Given the description of an element on the screen output the (x, y) to click on. 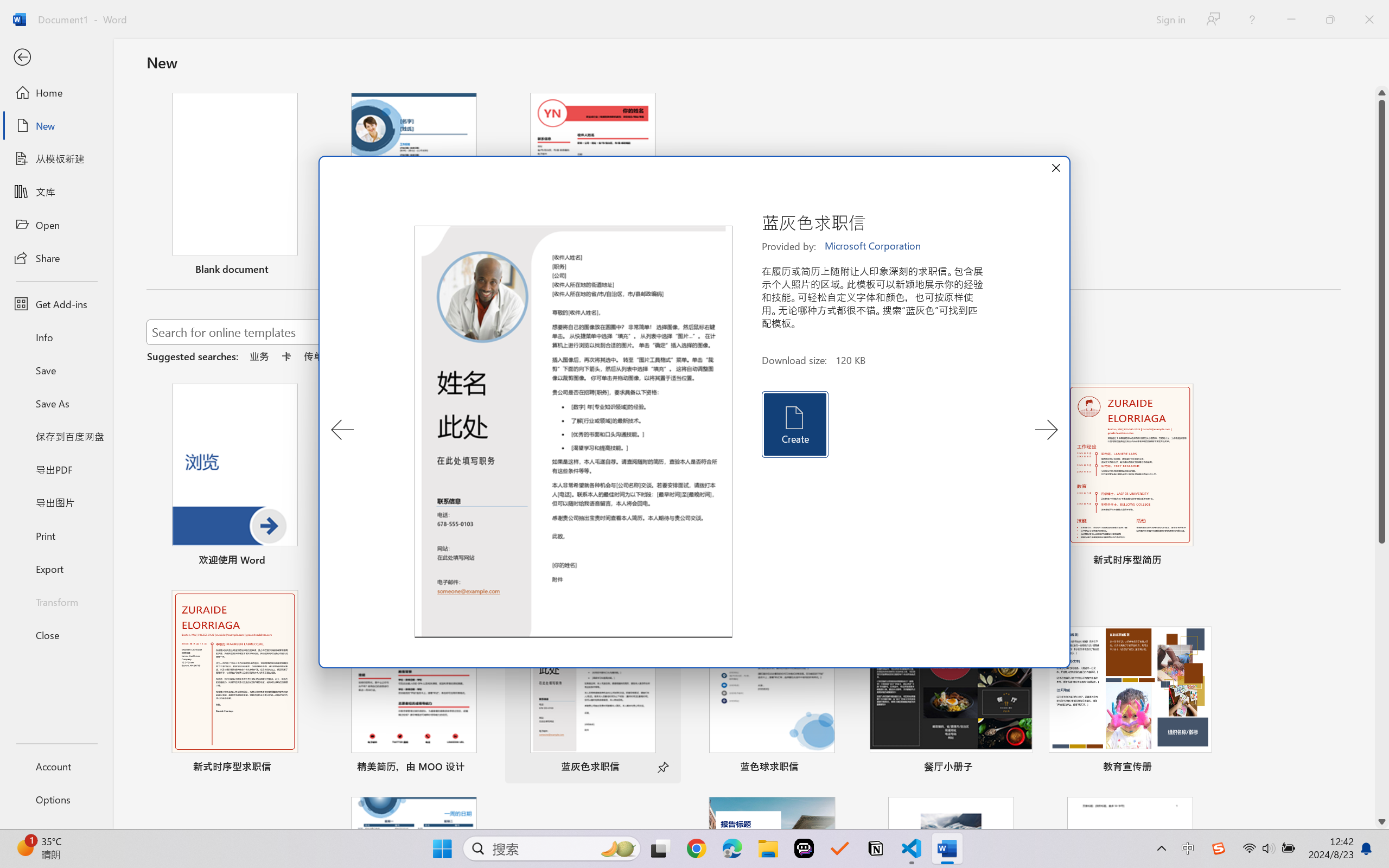
Miniclip.com (363, 354)
